Given the description of an element on the screen output the (x, y) to click on. 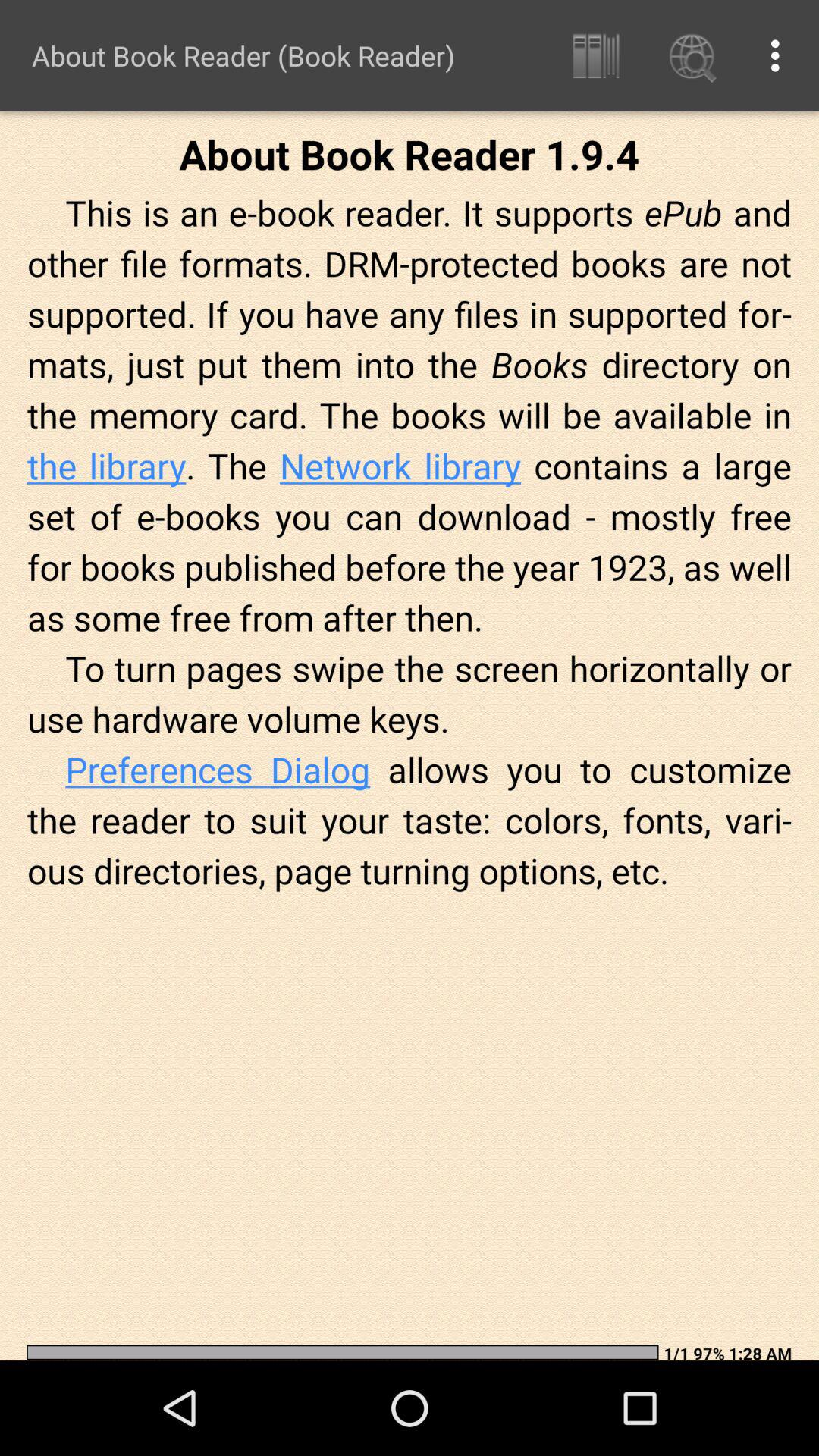
turn off about book reader app (243, 55)
